Given the description of an element on the screen output the (x, y) to click on. 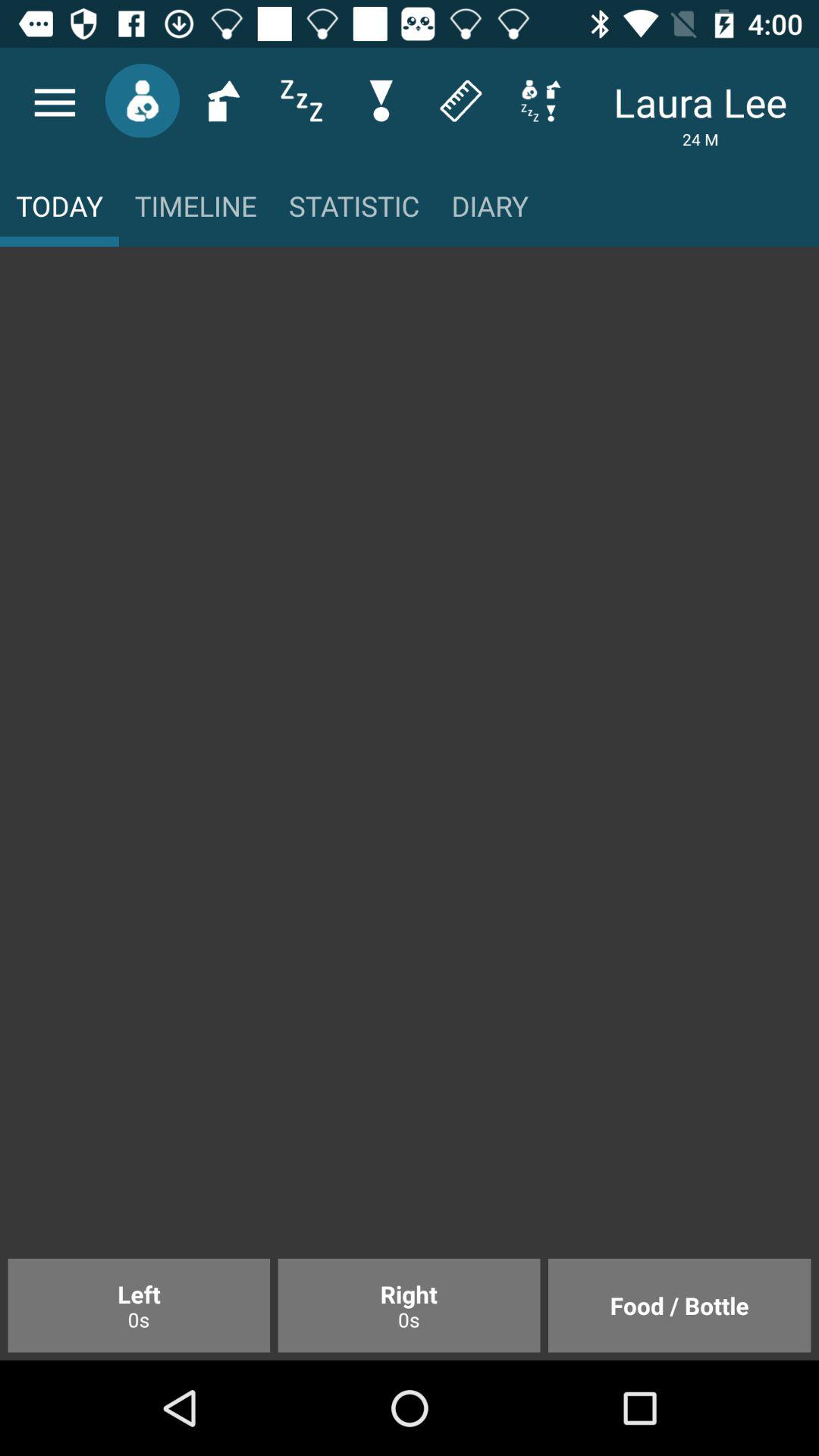
flip until right
0s item (409, 1305)
